Given the description of an element on the screen output the (x, y) to click on. 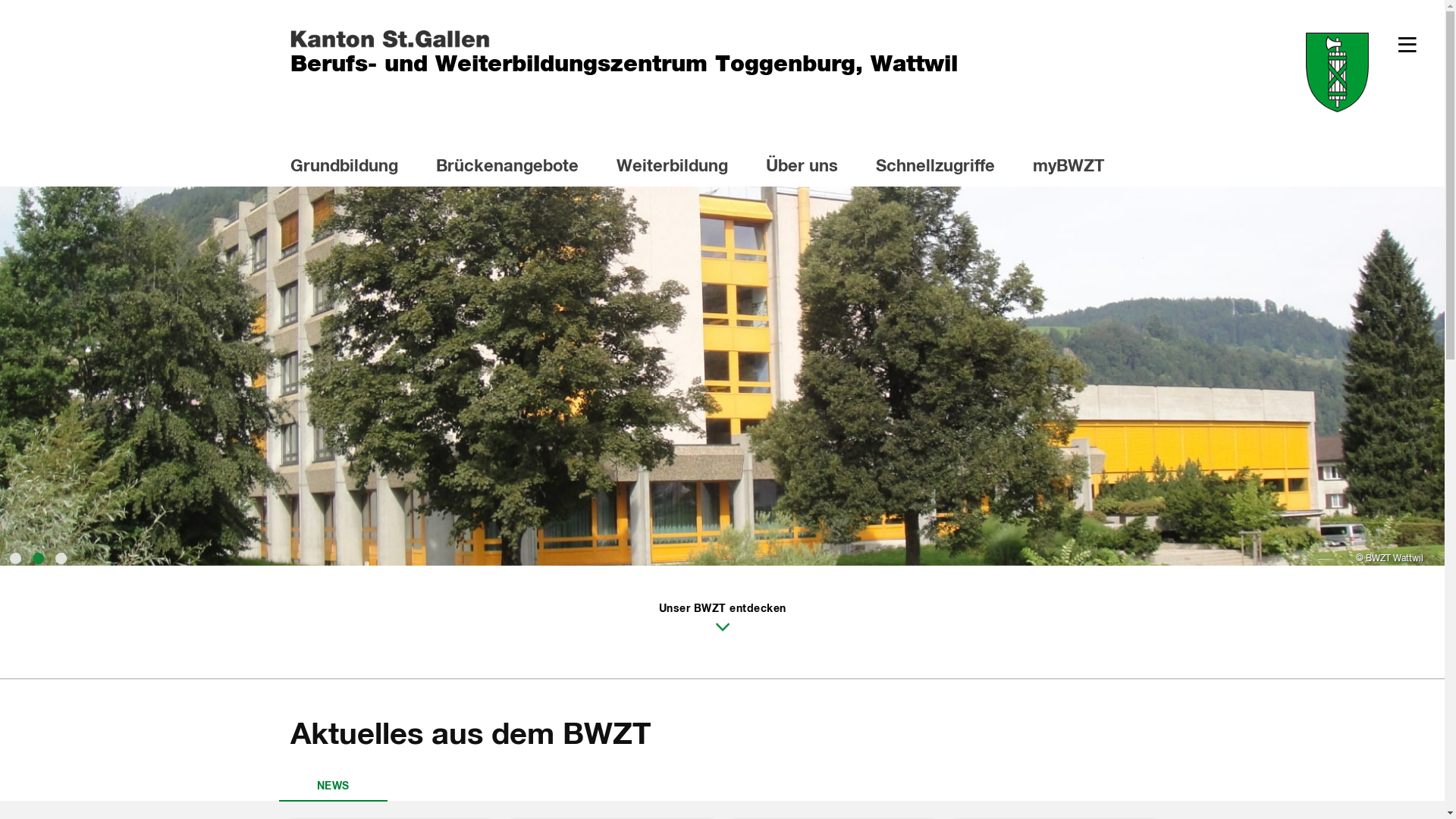
3 Element type: text (60, 553)
Grundbildung Element type: text (352, 167)
1 Element type: text (14, 553)
myBWZT Element type: text (1077, 167)
BWZT Wattwil Element type: hover (722, 375)
2 Element type: text (37, 553)
NEWS Element type: text (333, 782)
Schnellzugriffe Element type: text (944, 167)
Weiterbildung Element type: text (680, 167)
